Given the description of an element on the screen output the (x, y) to click on. 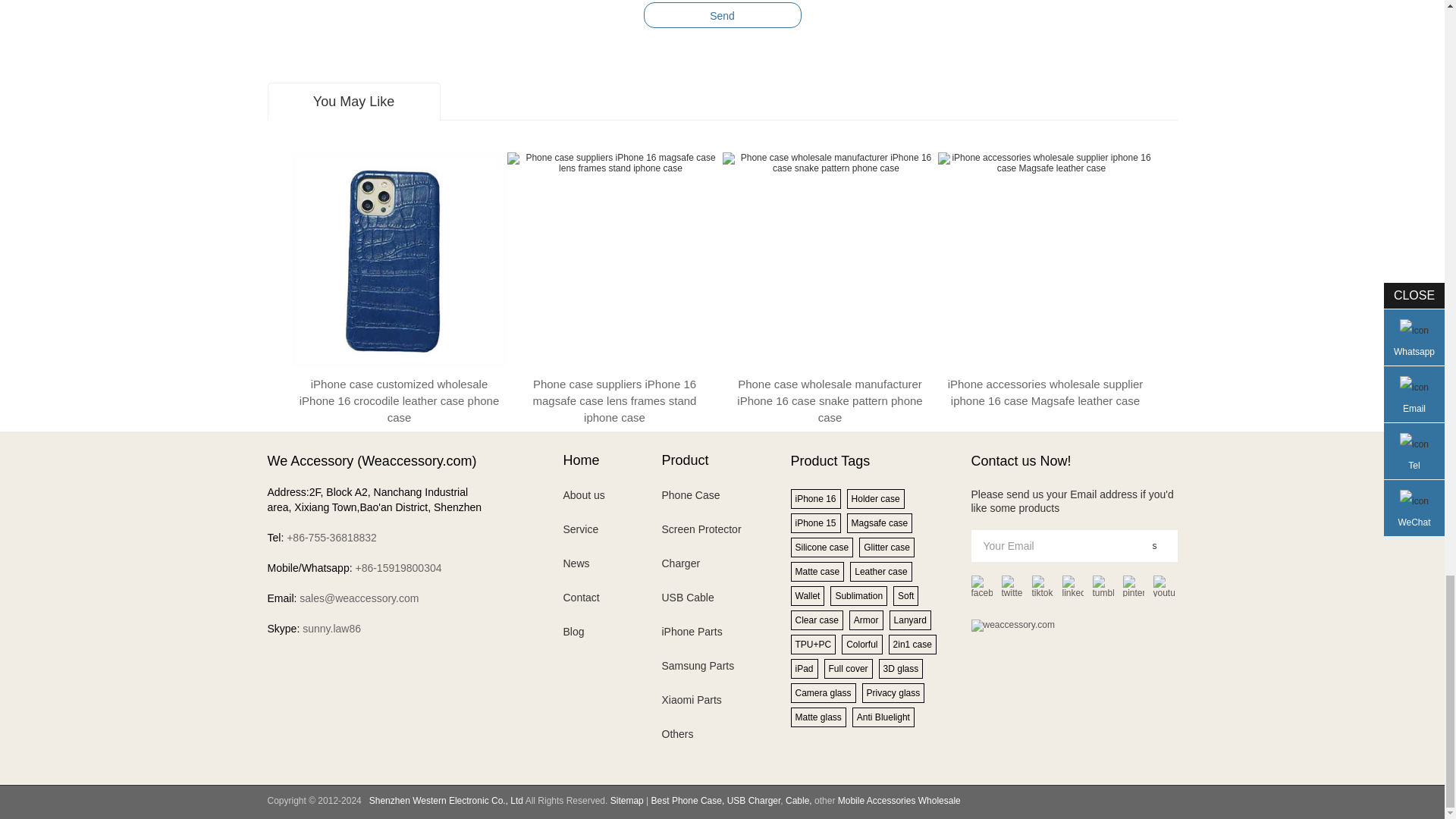
Send (721, 14)
s (1154, 545)
